Given the description of an element on the screen output the (x, y) to click on. 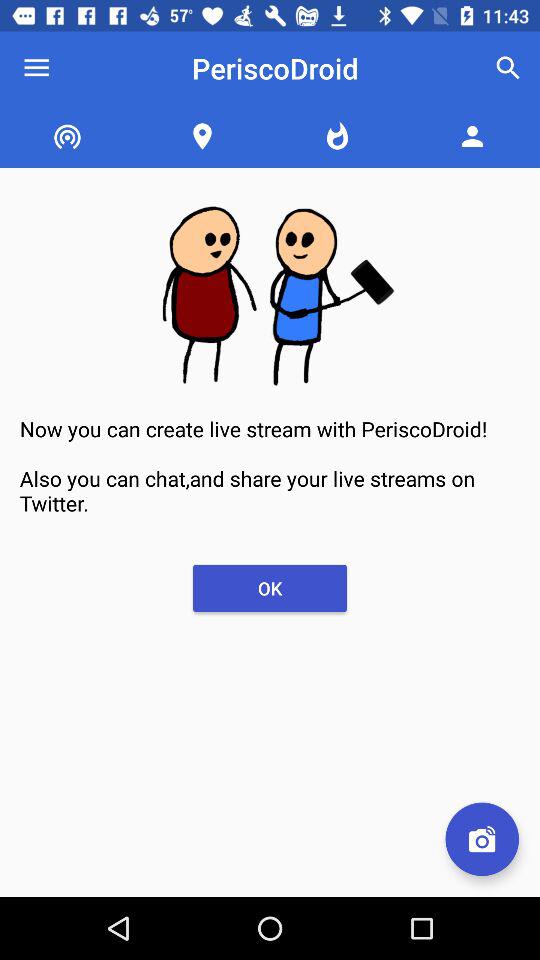
take photo (482, 839)
